Given the description of an element on the screen output the (x, y) to click on. 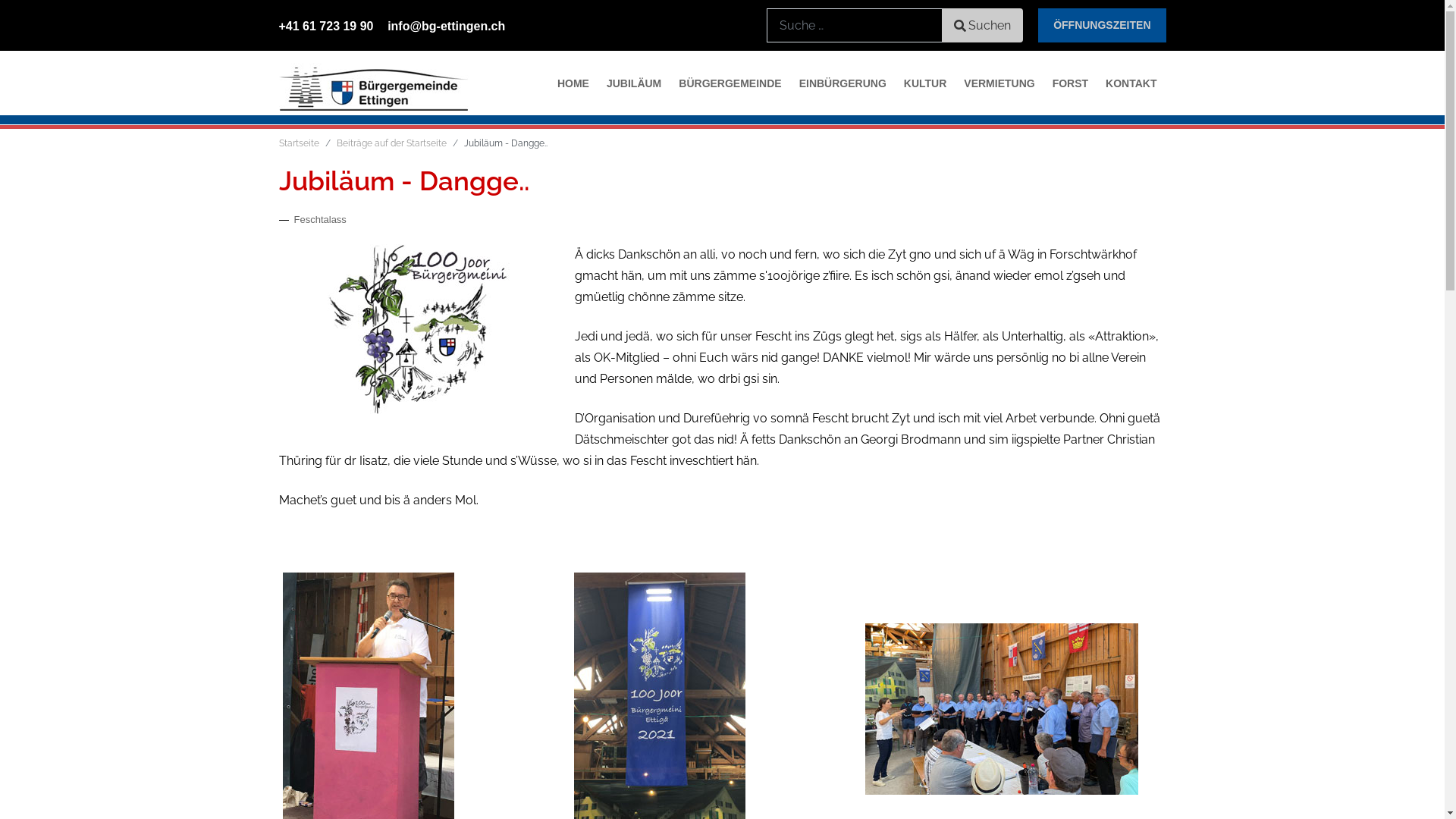
Startseite Element type: text (299, 143)
info@bg-ettingen.ch Element type: text (446, 25)
Suchen Element type: text (981, 25)
+41 61 723 19 90 Element type: text (326, 25)
FORST Element type: text (1070, 83)
KULTUR Element type: text (925, 83)
VERMIETUNG Element type: text (998, 83)
KONTAKT Element type: text (1130, 83)
HOME Element type: text (573, 83)
